Given the description of an element on the screen output the (x, y) to click on. 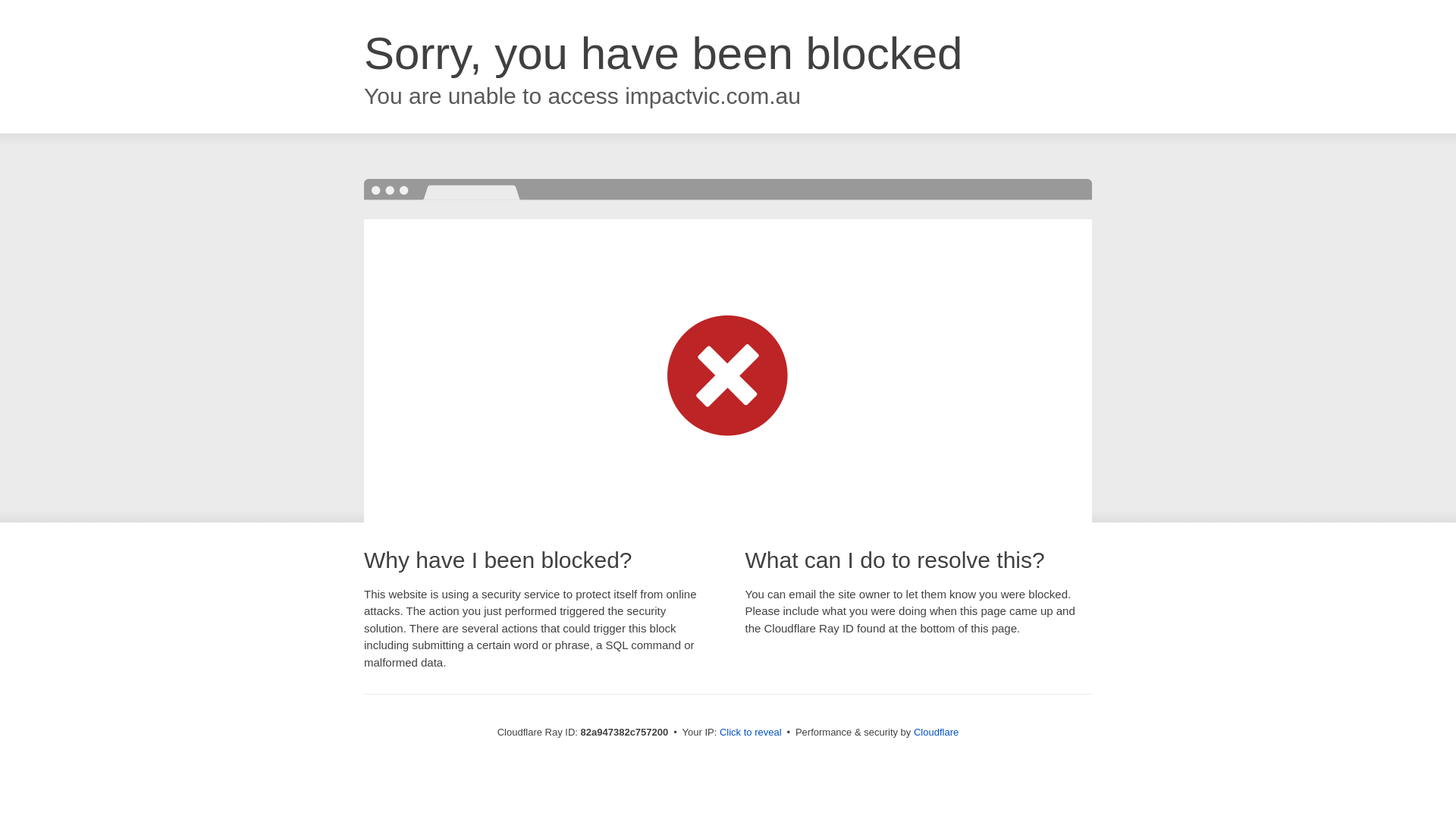
Cloudflare Element type: text (935, 731)
Click to reveal Element type: text (750, 732)
